Given the description of an element on the screen output the (x, y) to click on. 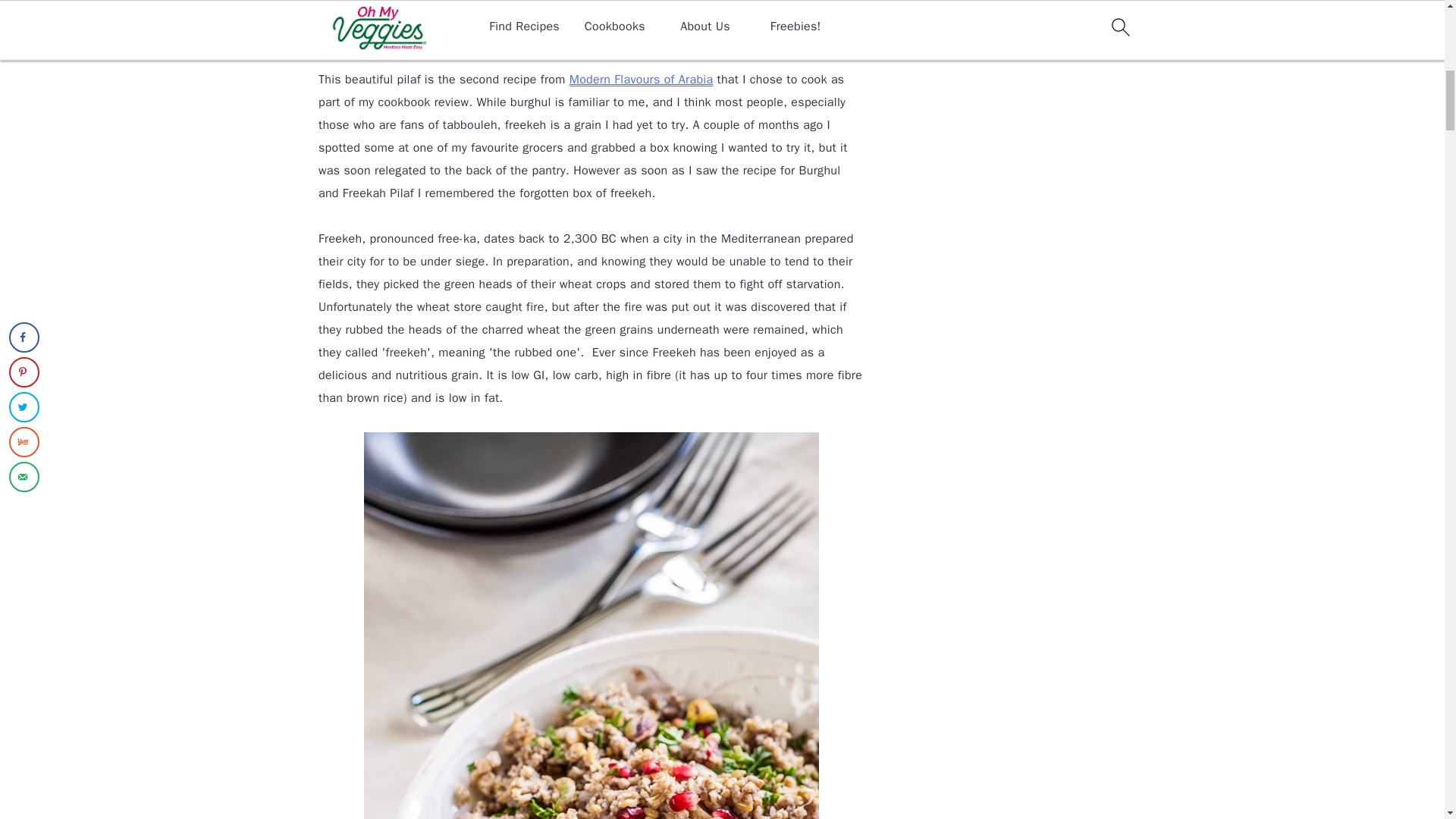
Freekeh Pilaf (591, 22)
Spinach Filled Filo Triangles (641, 79)
